Given the description of an element on the screen output the (x, y) to click on. 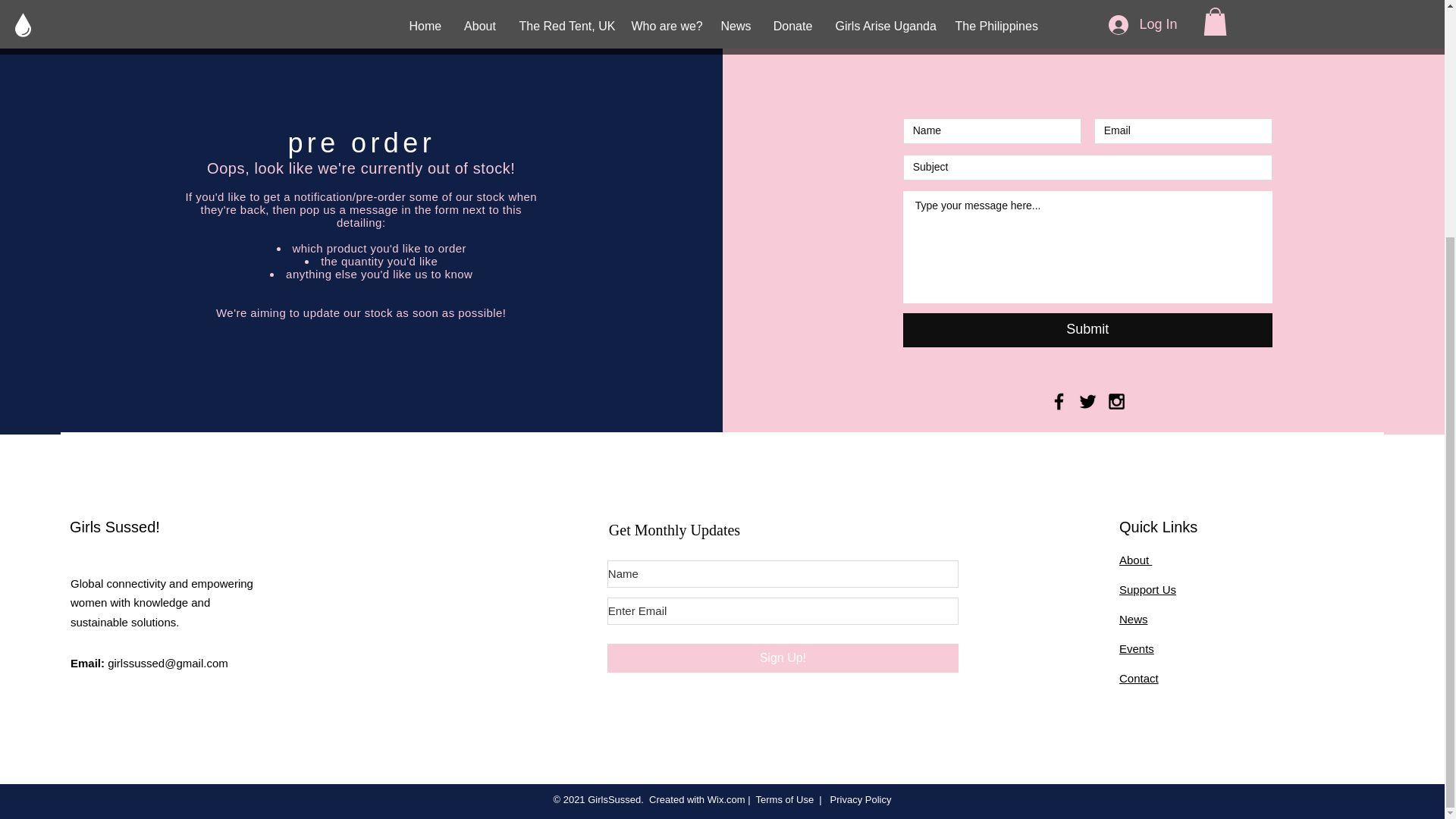
About  (1135, 558)
Events (1136, 648)
Support Us (1147, 589)
Terms of Use (784, 799)
Submit (1087, 329)
Sign Up! (782, 657)
News (1133, 617)
Contact (1138, 676)
 Privacy Policy (859, 799)
Wix.com (726, 799)
